Given the description of an element on the screen output the (x, y) to click on. 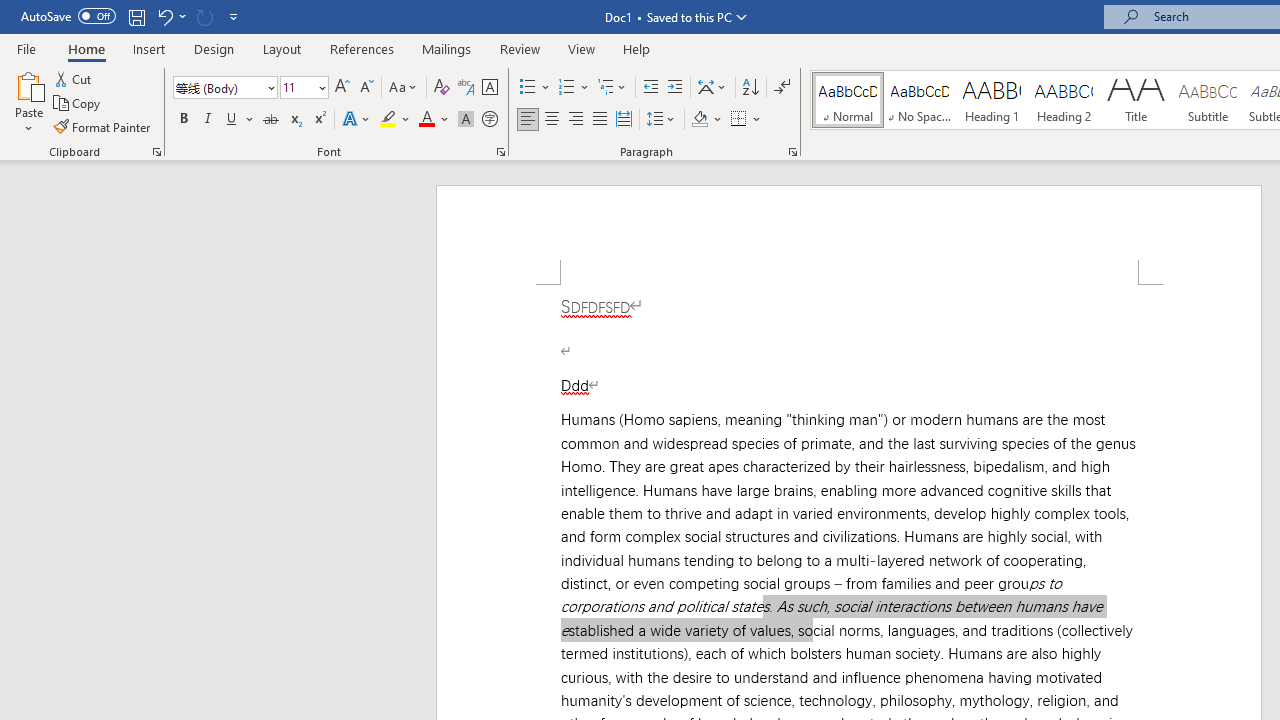
Paragraph... (792, 151)
Text Highlight Color Yellow (388, 119)
